Given the description of an element on the screen output the (x, y) to click on. 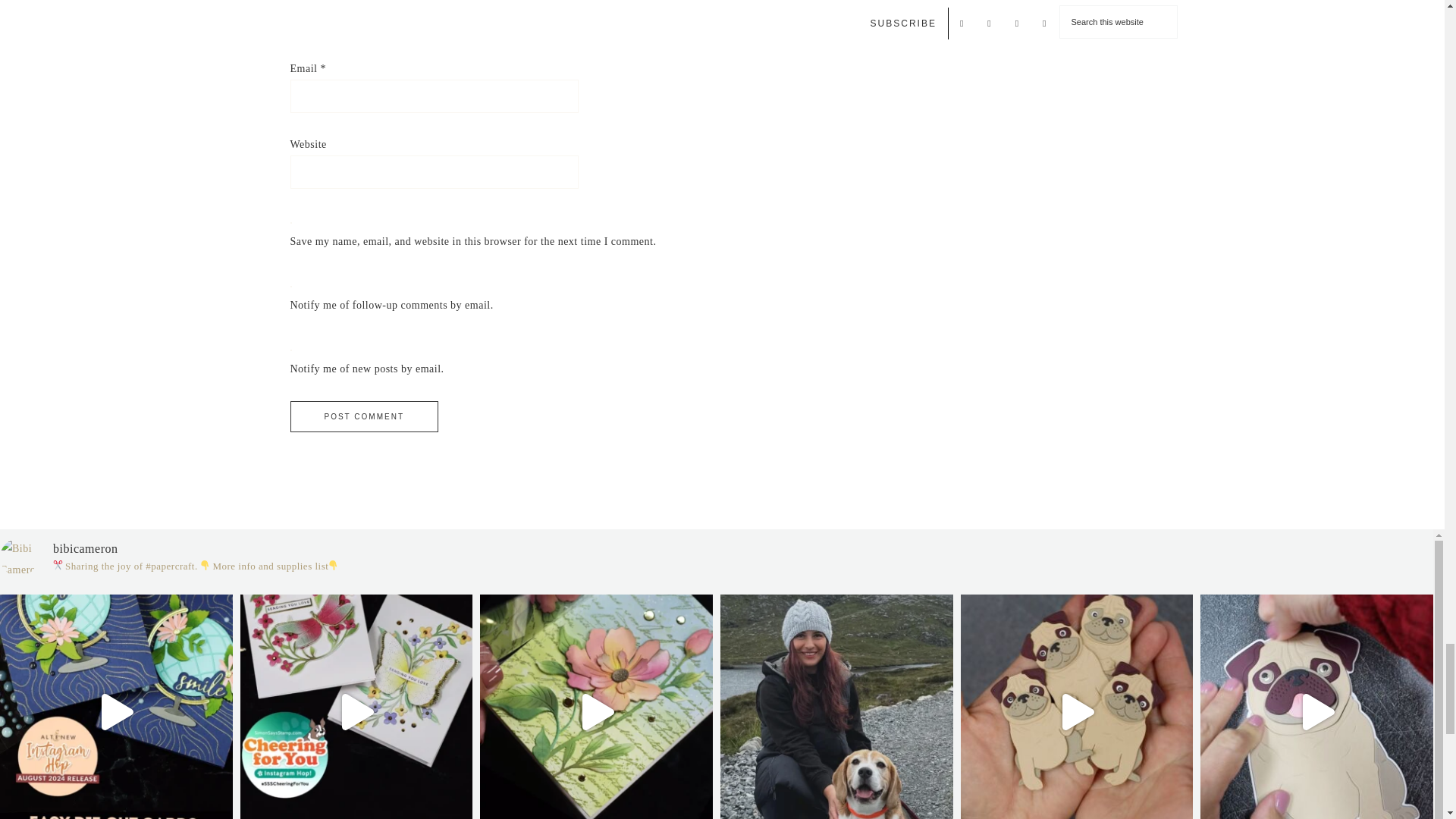
Post Comment (363, 416)
